Given the description of an element on the screen output the (x, y) to click on. 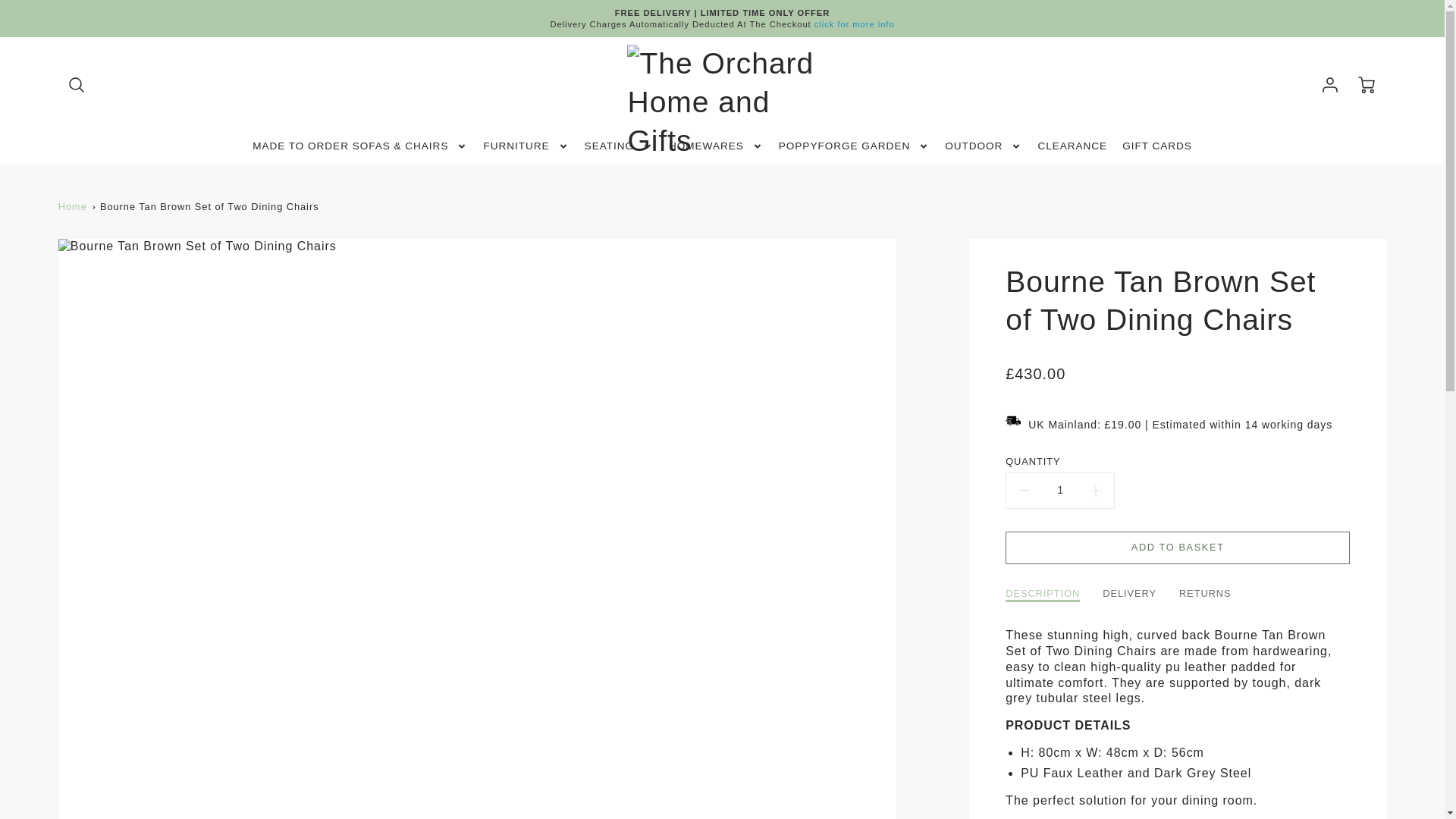
Delivery (854, 23)
1 (1059, 490)
FURNITURE (526, 146)
click for more info (854, 23)
